Given the description of an element on the screen output the (x, y) to click on. 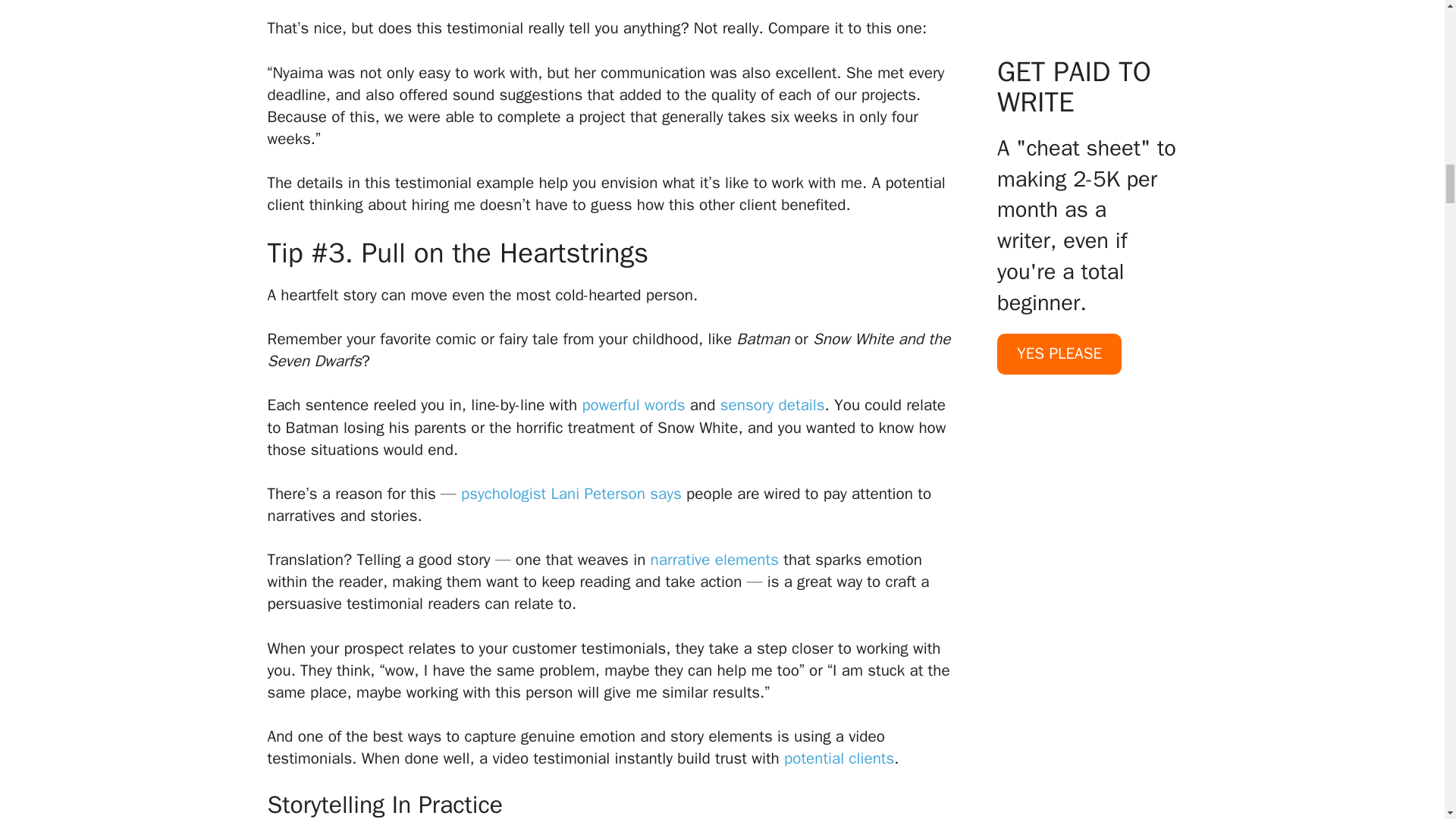
psychologist Lani Peterson says (571, 493)
potential clients (838, 758)
powerful words (632, 404)
narrative elements (714, 559)
sensory details (772, 404)
